Given the description of an element on the screen output the (x, y) to click on. 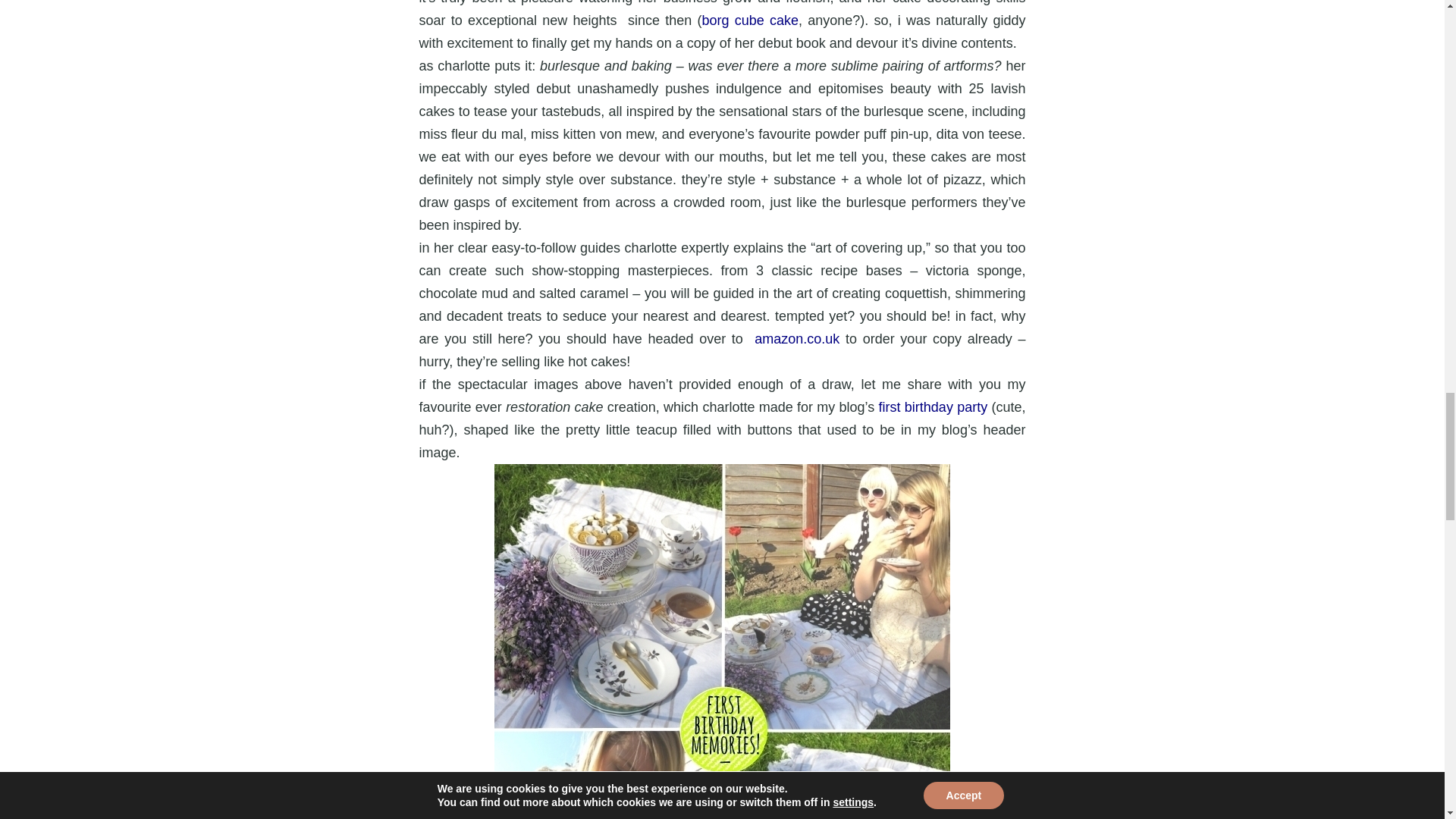
amazon.co.uk (797, 338)
first birthday party (933, 406)
borg cube cake (749, 20)
